Given the description of an element on the screen output the (x, y) to click on. 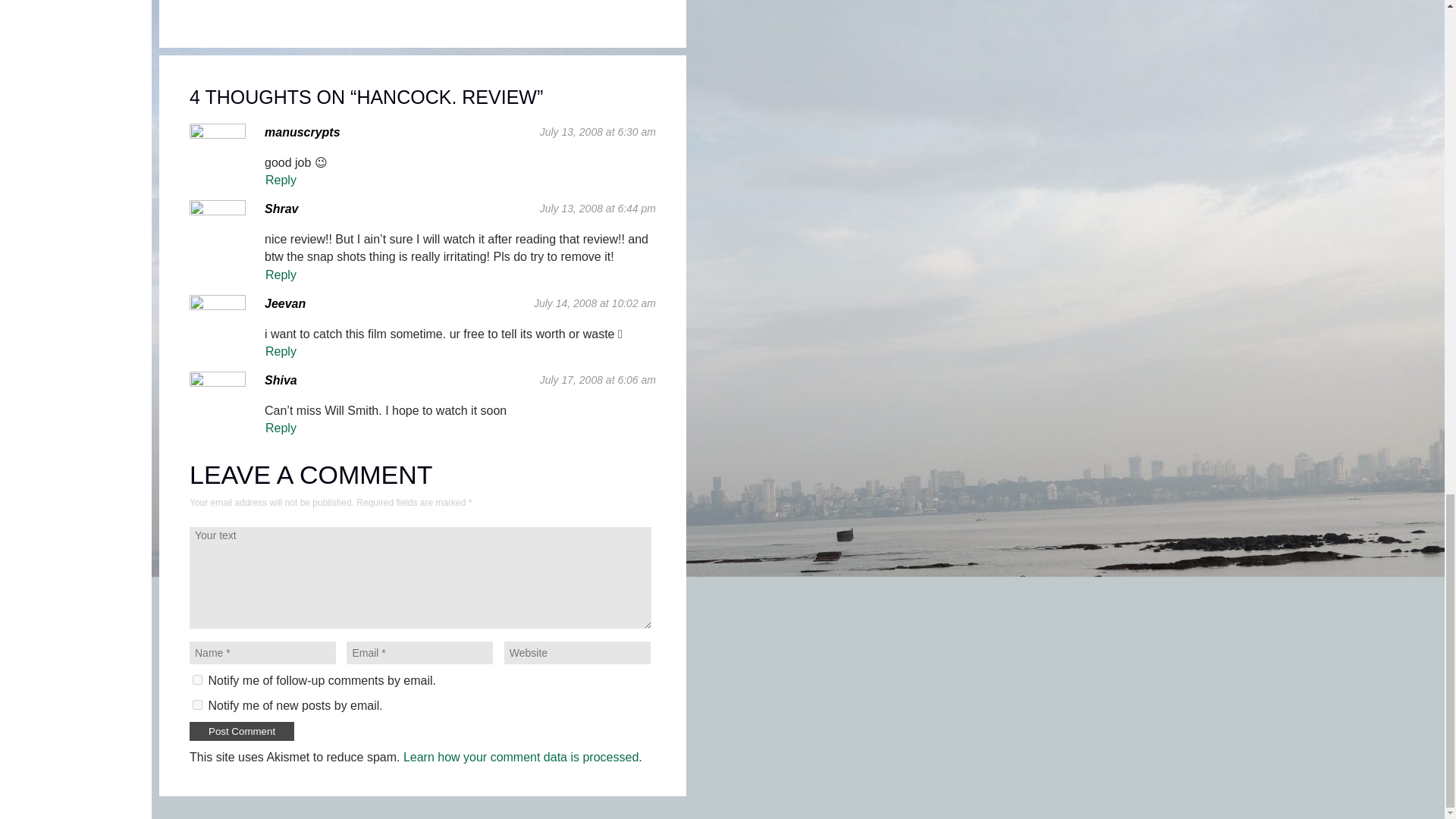
subscribe (197, 705)
manuscrypts (302, 132)
Post Comment (241, 731)
subscribe (197, 679)
